Given the description of an element on the screen output the (x, y) to click on. 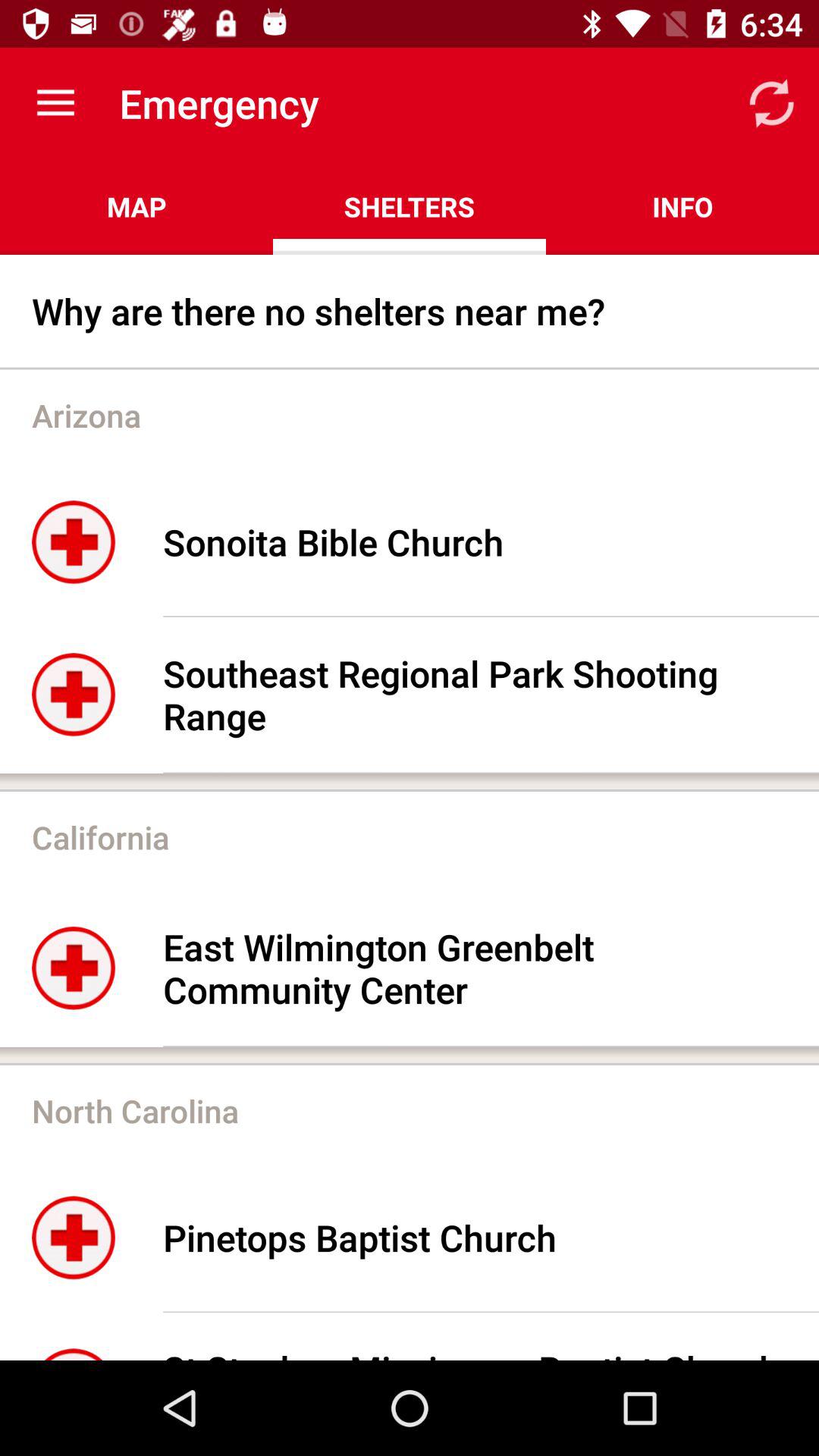
turn off app above the info (771, 103)
